Given the description of an element on the screen output the (x, y) to click on. 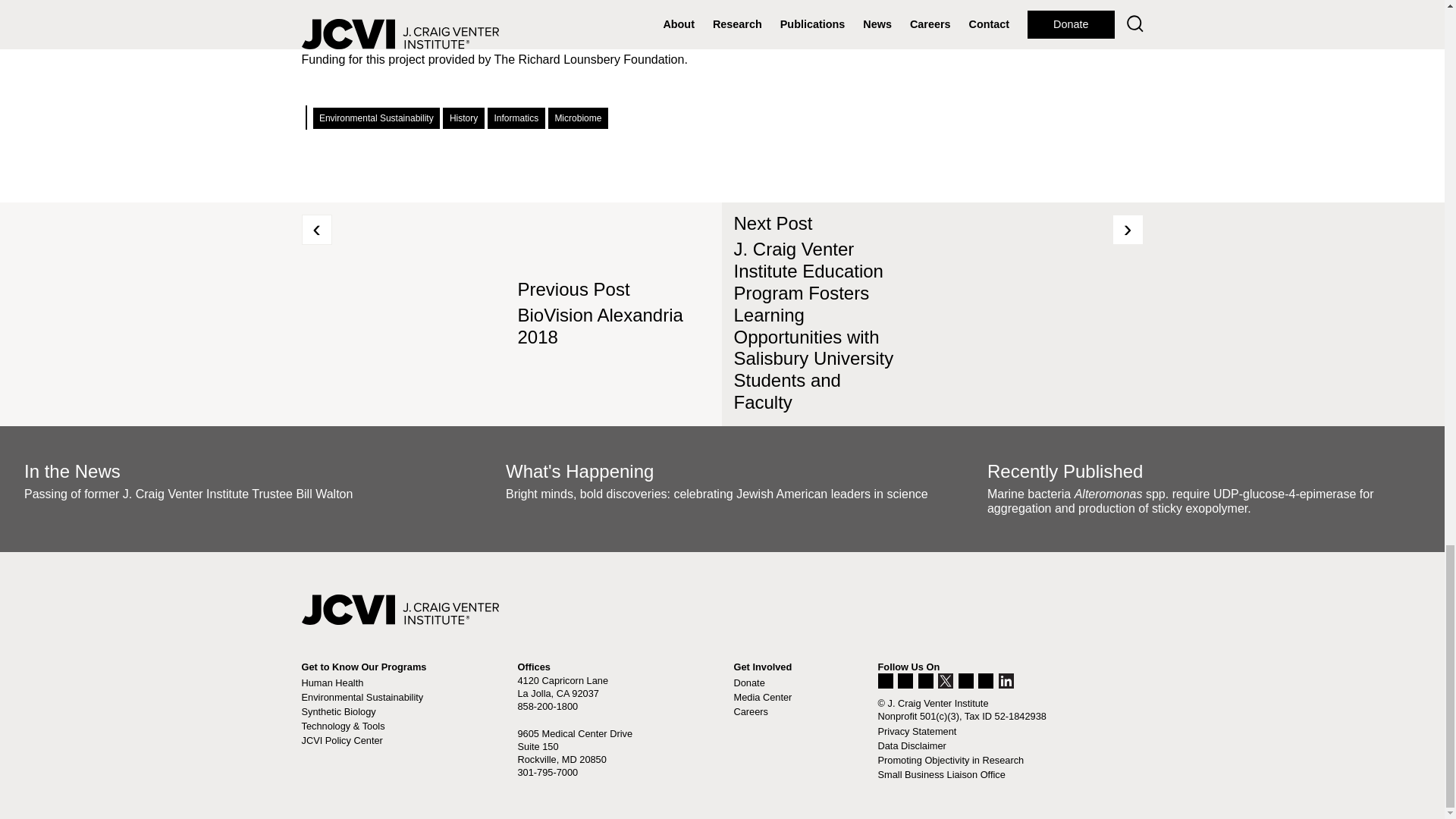
Informatics (515, 117)
BioVision Alexandria 2018 (599, 325)
Microbiome (578, 117)
Environmental Sustainability (376, 117)
History (462, 117)
